Given the description of an element on the screen output the (x, y) to click on. 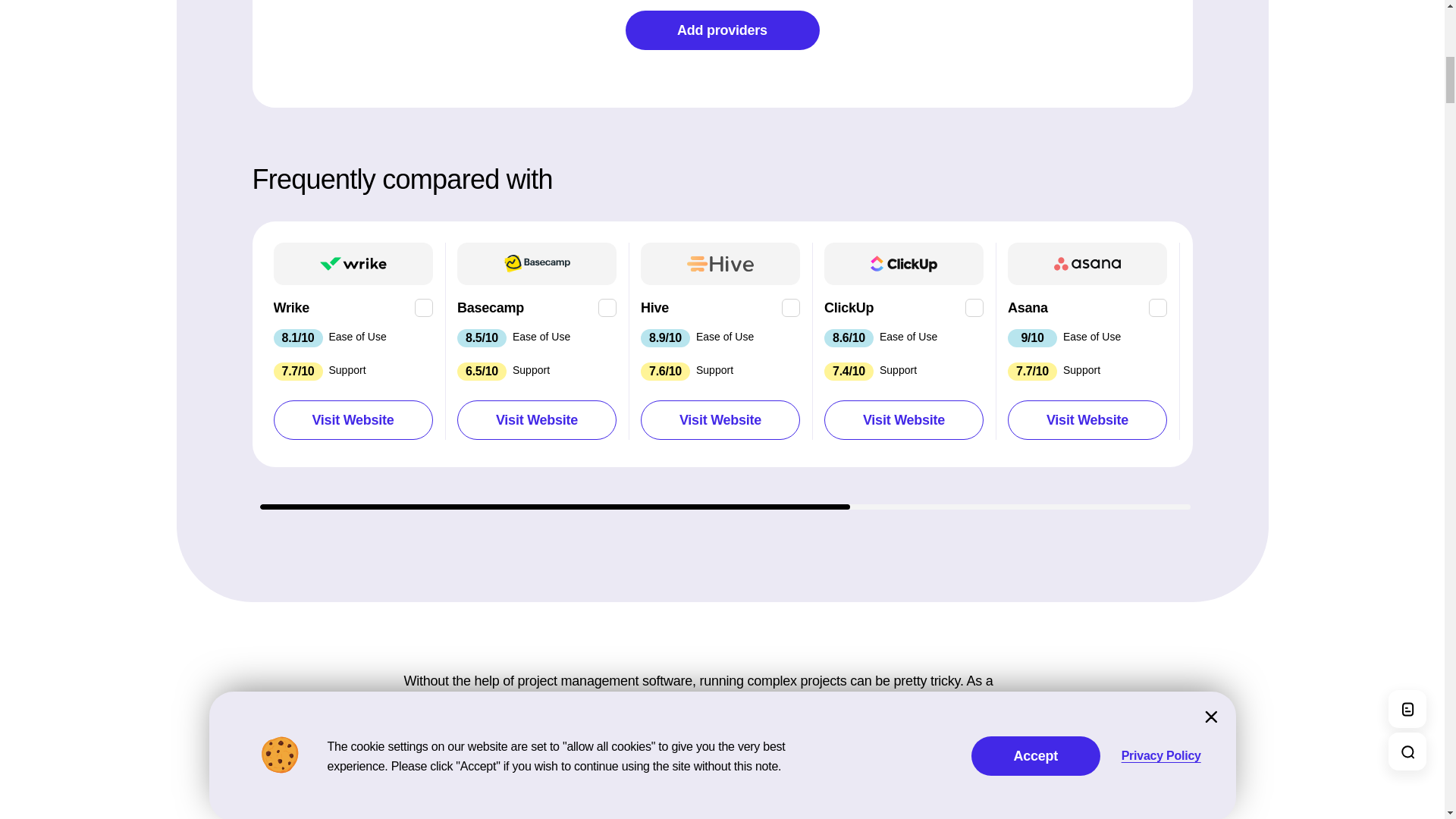
Visit Website (536, 419)
Visit Website (352, 419)
Visit Website (352, 410)
Add providers (721, 29)
Visit Website (536, 410)
